Given the description of an element on the screen output the (x, y) to click on. 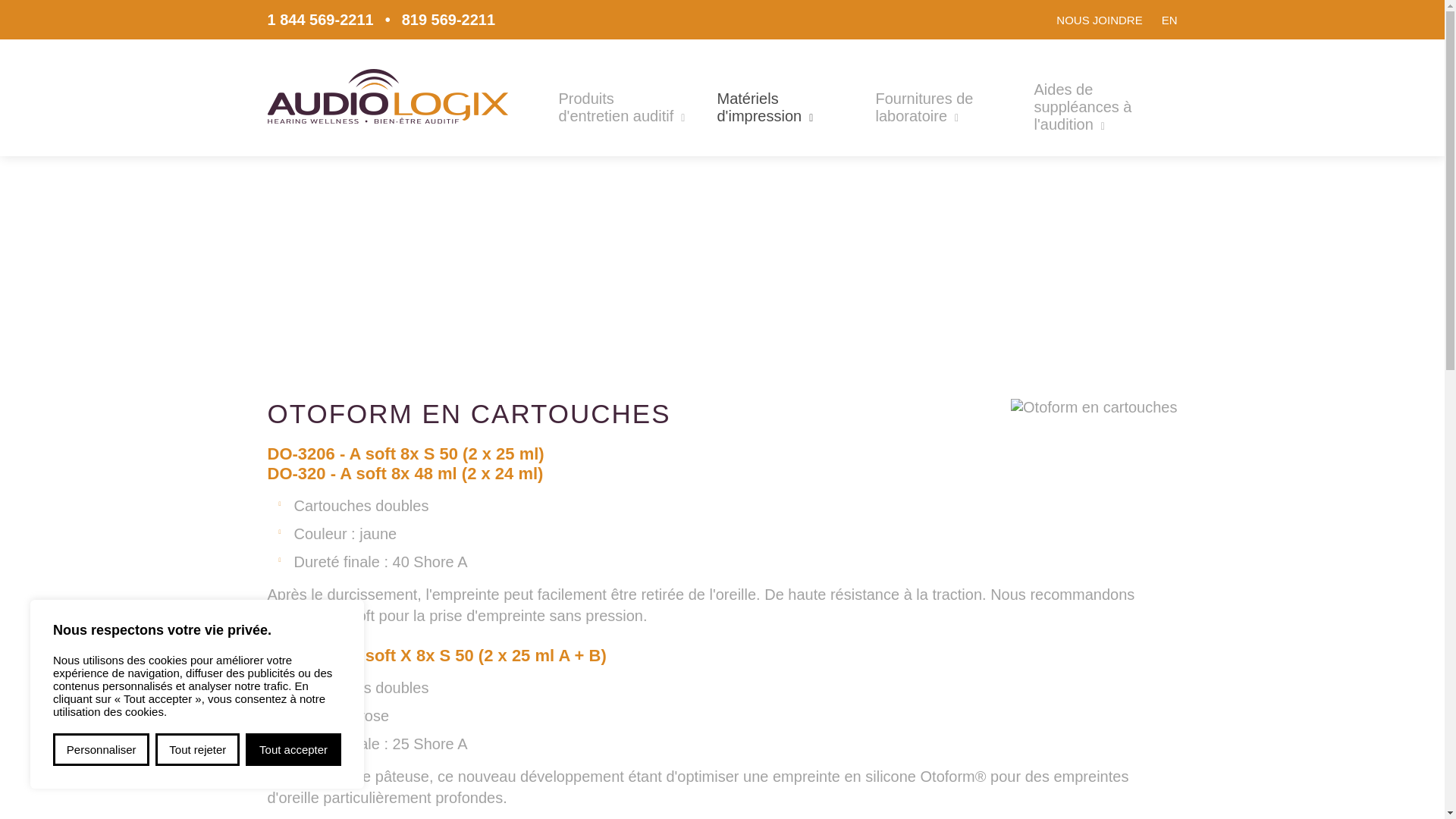
Otoform en cartouches Element type: hover (1093, 406)
NOUS JOINDRE Element type: text (1099, 19)
1 844 569-2211 Element type: text (319, 18)
EN Element type: text (1169, 19)
Fournitures de laboratoire Element type: text (938, 107)
Produits d'entretien auditif Element type: text (621, 107)
Personnaliser Element type: text (101, 749)
Tout rejeter Element type: text (197, 749)
Tout accepter Element type: text (293, 749)
819 569-2211 Element type: text (448, 18)
